Given the description of an element on the screen output the (x, y) to click on. 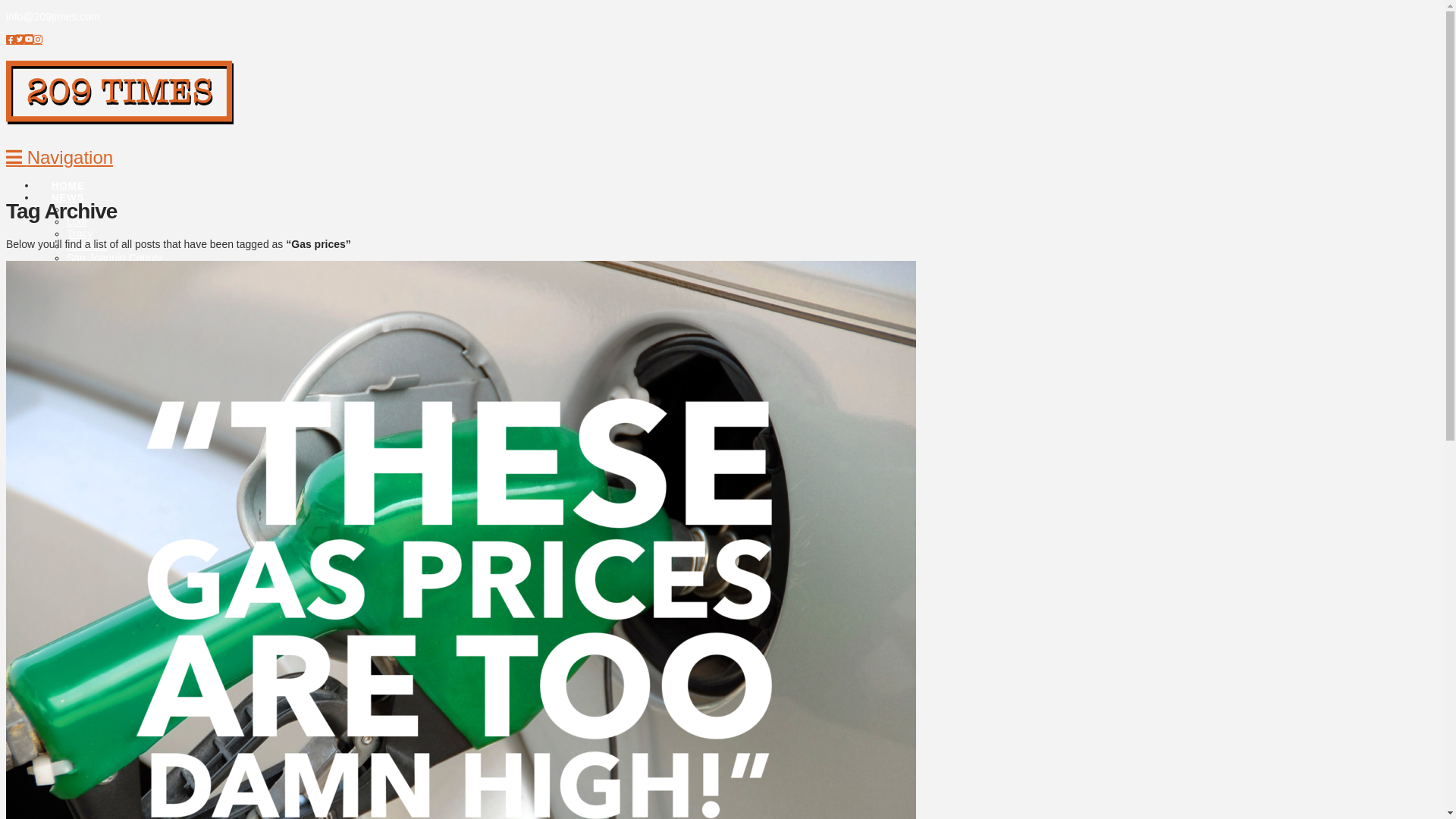
Facebook Element type: hover (10, 39)
ABOUT Element type: text (70, 323)
SOCIAL Element type: text (72, 311)
HOME Element type: text (54, 438)
Stockton Element type: text (86, 474)
209 VIBES Element type: text (66, 668)
SEARCH Element type: text (69, 680)
Stockton Element type: text (86, 209)
Tracy Element type: text (79, 498)
Lodi Element type: text (76, 221)
YouTube Element type: hover (28, 39)
Message Us Element type: text (95, 632)
DONATE Element type: text (60, 656)
HOME Element type: text (67, 177)
Merced County Element type: text (102, 282)
San Joaquin County Element type: text (114, 257)
SHOP Element type: text (66, 286)
MARKET Element type: text (74, 298)
CONTACT Element type: text (476, 614)
Modesto Element type: text (86, 511)
Message Us Element type: text (95, 354)
ABOUT Element type: text (57, 595)
CONTACT Element type: text (77, 335)
Modesto Element type: text (86, 245)
Anonymous Tip Element type: text (103, 644)
Navigation Element type: text (59, 157)
Stanislaus County Element type: text (109, 269)
Lodi Element type: text (76, 486)
SHOP Element type: text (52, 559)
Tracy Element type: text (79, 233)
DONATE Element type: text (73, 371)
Anonymous Tip Element type: text (103, 366)
NEWS Element type: text (476, 456)
SOCIAL Element type: text (58, 583)
SEARCH Element type: text (81, 395)
NEWS Element type: text (67, 189)
Stanislaus County Element type: text (109, 535)
$0.00 Element type: text (483, 415)
Twitter Element type: hover (19, 39)
$0.00 Element type: text (476, 693)
San Joaquin County Element type: text (114, 523)
209 VIBES Element type: text (79, 383)
Merced County Element type: text (102, 547)
Instagram Element type: hover (37, 39)
MARKET Element type: text (61, 571)
